Given the description of an element on the screen output the (x, y) to click on. 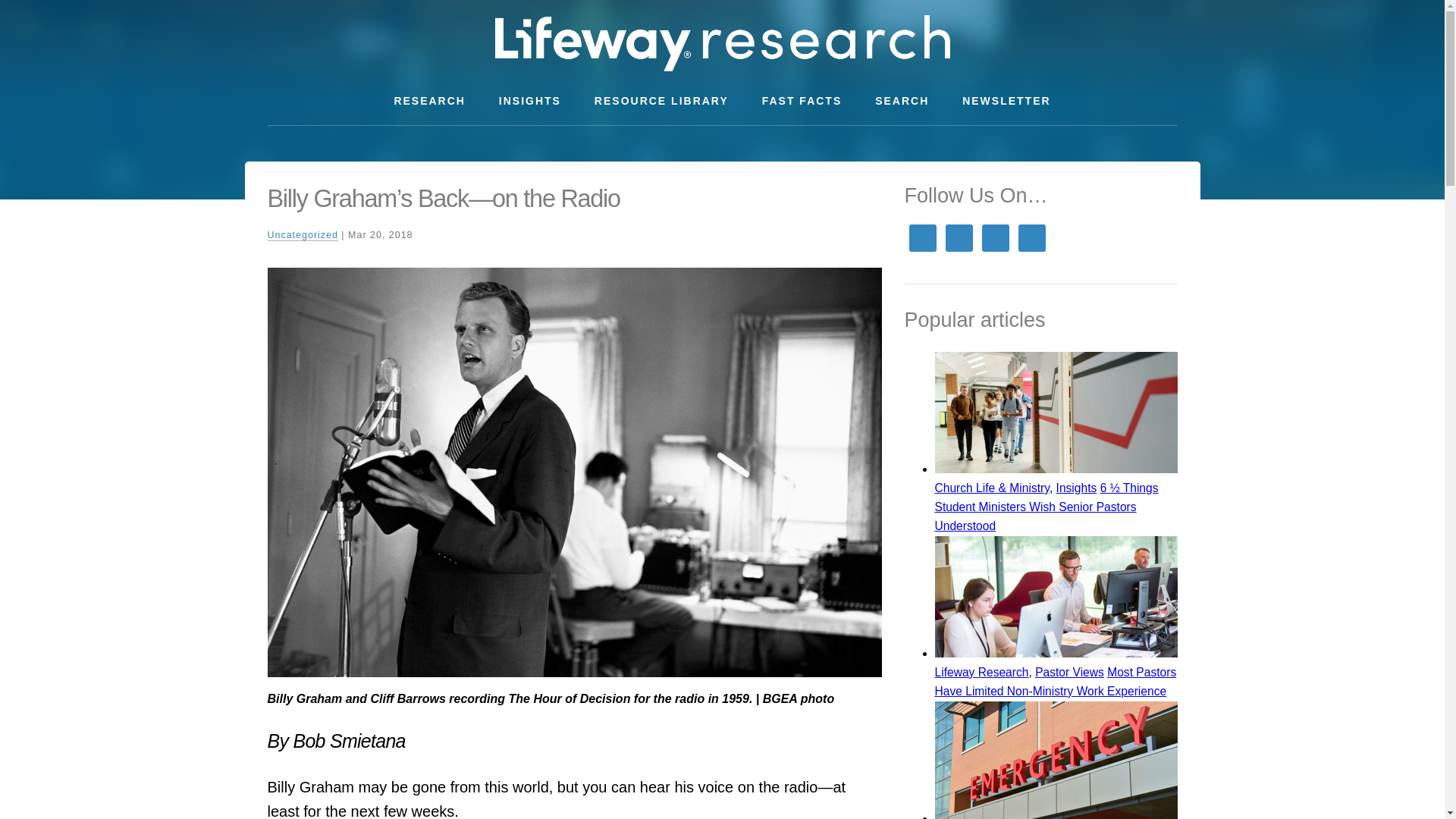
RESEARCH (429, 100)
RESOURCE LIBRARY (661, 100)
SEARCH (901, 100)
NEWSLETTER (1006, 100)
FAST FACTS (801, 100)
INSIGHTS (529, 100)
Uncategorized (301, 235)
